Given the description of an element on the screen output the (x, y) to click on. 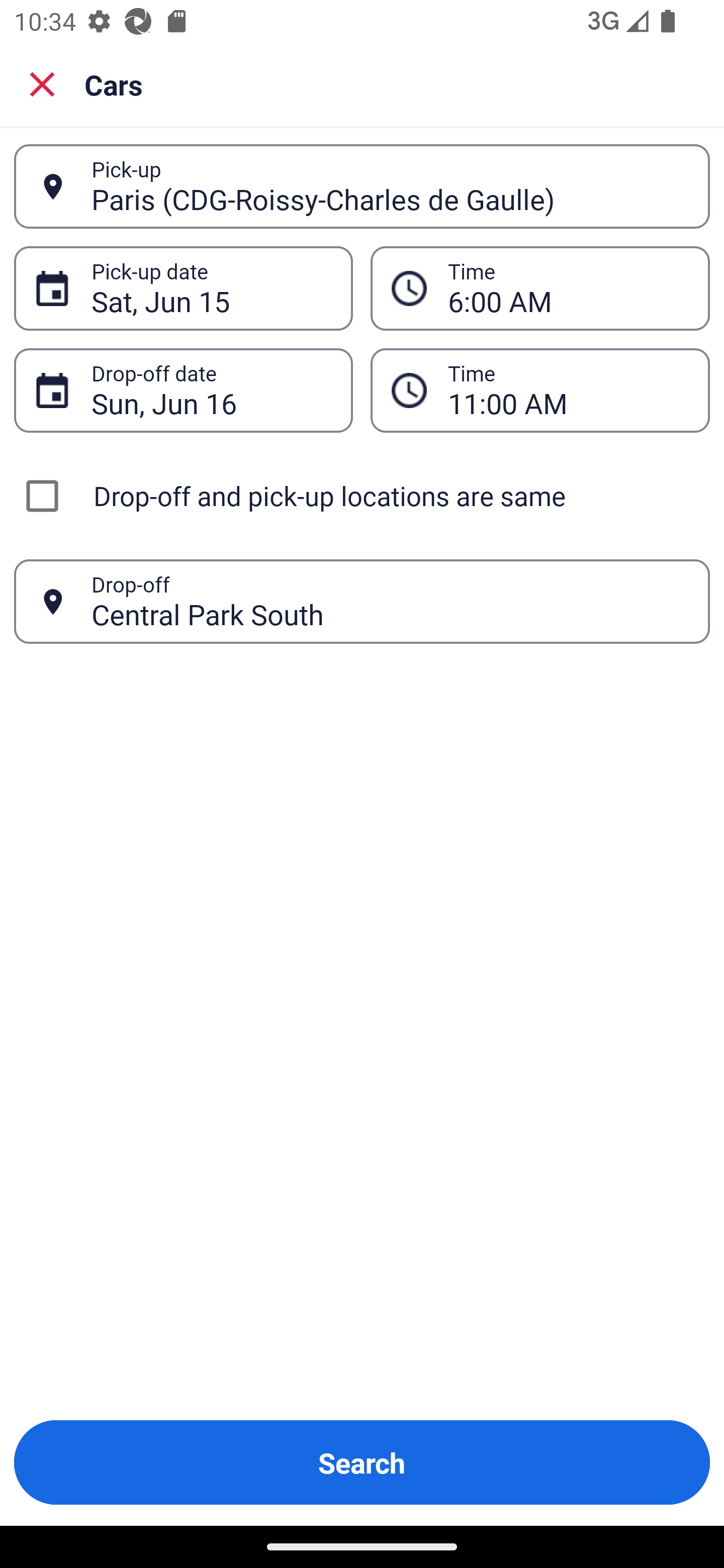
Close search screen (41, 83)
Paris (CDG-Roissy-Charles de Gaulle) Pick-up (361, 186)
Paris (CDG-Roissy-Charles de Gaulle) (389, 186)
Sat, Jun 15 Pick-up date (183, 288)
6:00 AM (540, 288)
Sat, Jun 15 (211, 288)
6:00 AM (568, 288)
Sun, Jun 16 Drop-off date (183, 390)
11:00 AM (540, 390)
Sun, Jun 16 (211, 390)
11:00 AM (568, 390)
Drop-off and pick-up locations are same (361, 495)
Central Park South Drop-off (361, 601)
Central Park South (389, 601)
Search Button Search (361, 1462)
